Given the description of an element on the screen output the (x, y) to click on. 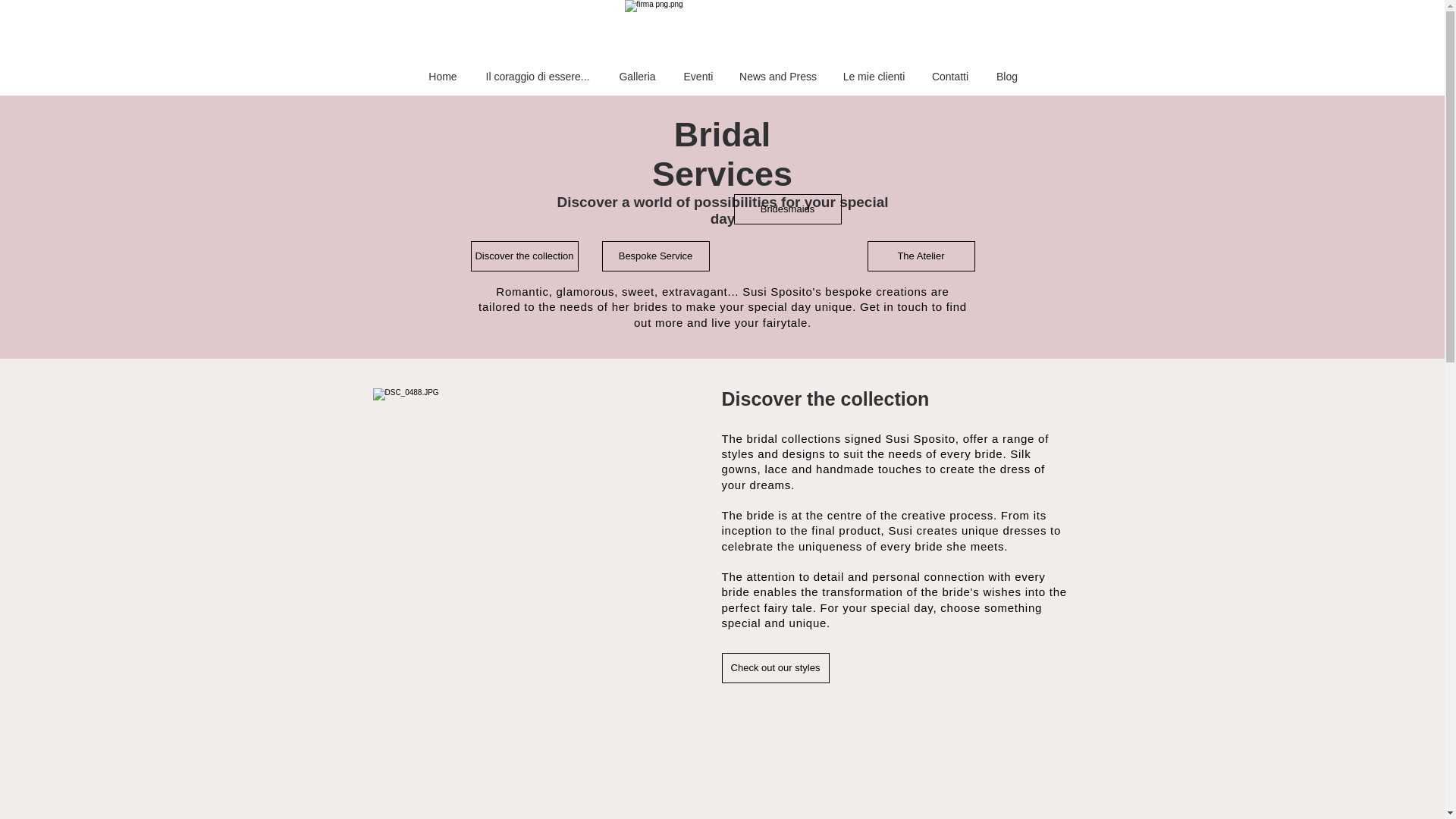
Blog (1007, 76)
Bespoke Service (656, 255)
Bridesmaids (787, 209)
Check out our styles (775, 667)
Il coraggio di essere... (537, 76)
Home (441, 76)
News and Press (777, 76)
Discover the collection (524, 255)
Eventi (697, 76)
Galleria (636, 76)
The Atelier (921, 255)
Le mie clienti (873, 76)
Contatti (949, 76)
